Given the description of an element on the screen output the (x, y) to click on. 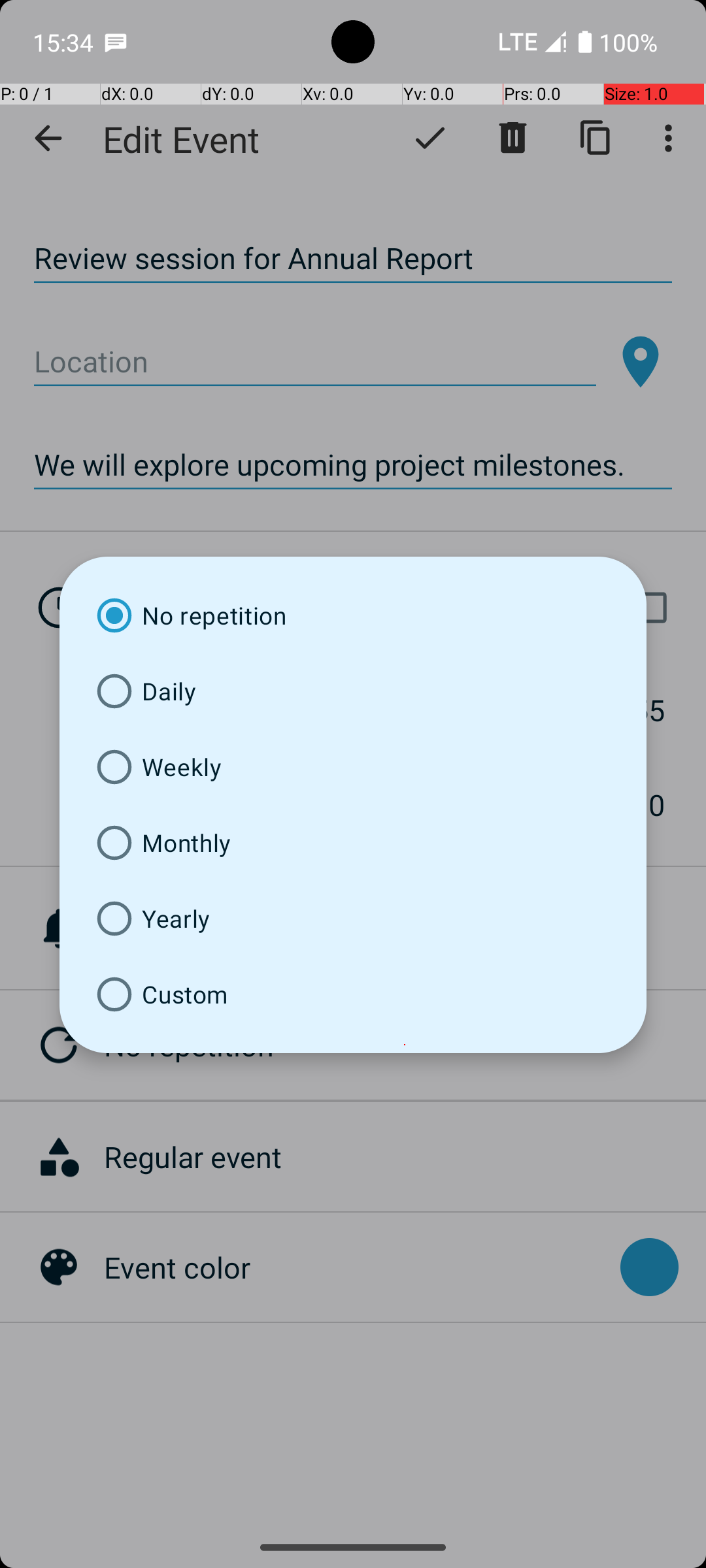
Weekly Element type: android.widget.RadioButton (352, 766)
Yearly Element type: android.widget.RadioButton (352, 918)
